Given the description of an element on the screen output the (x, y) to click on. 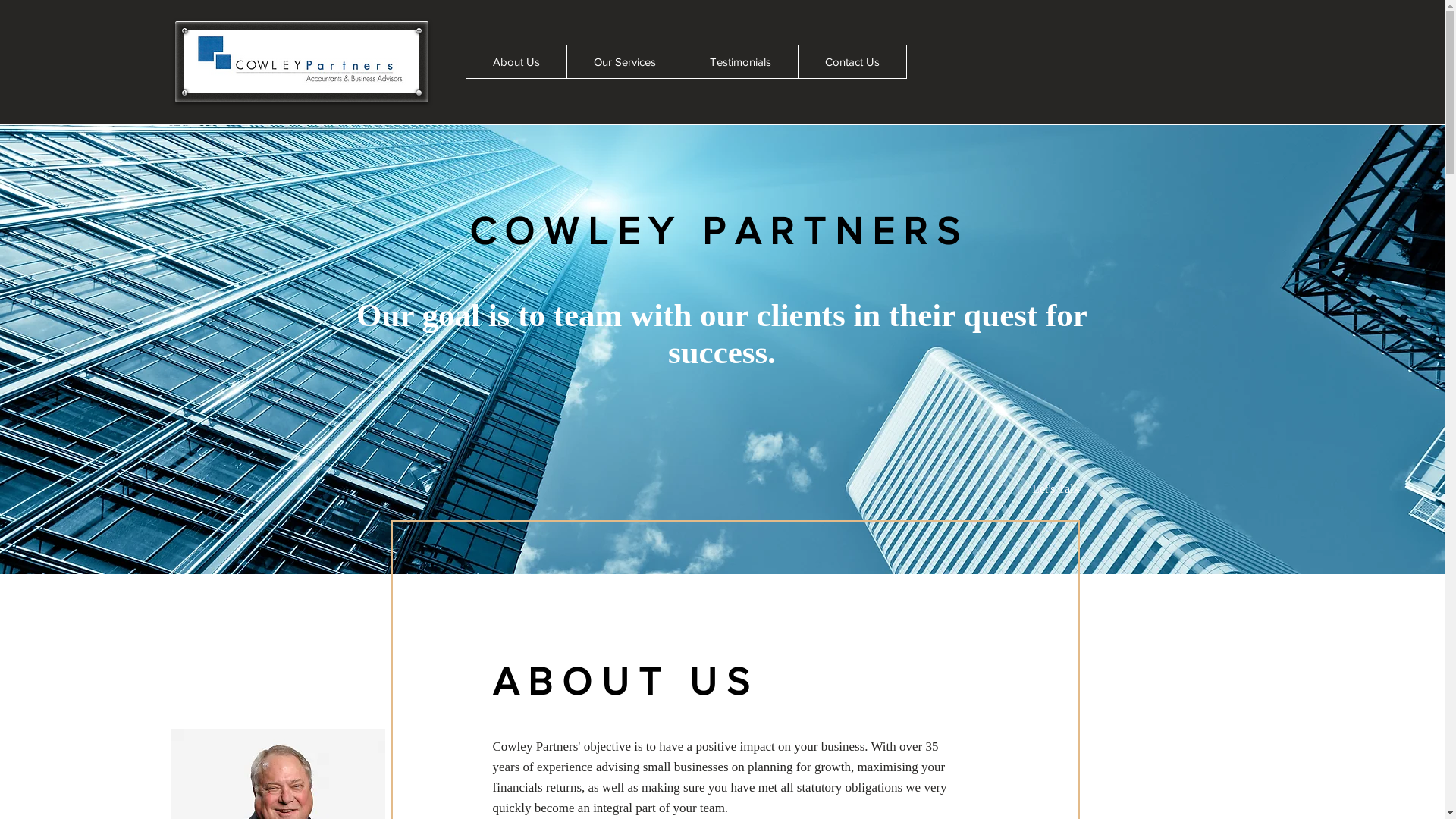
About Us Element type: text (515, 61)
Testimonials Element type: text (739, 61)
Contact Us Element type: text (851, 61)
Let's Talk Element type: text (1051, 488)
Our Services Element type: text (623, 61)
